Given the description of an element on the screen output the (x, y) to click on. 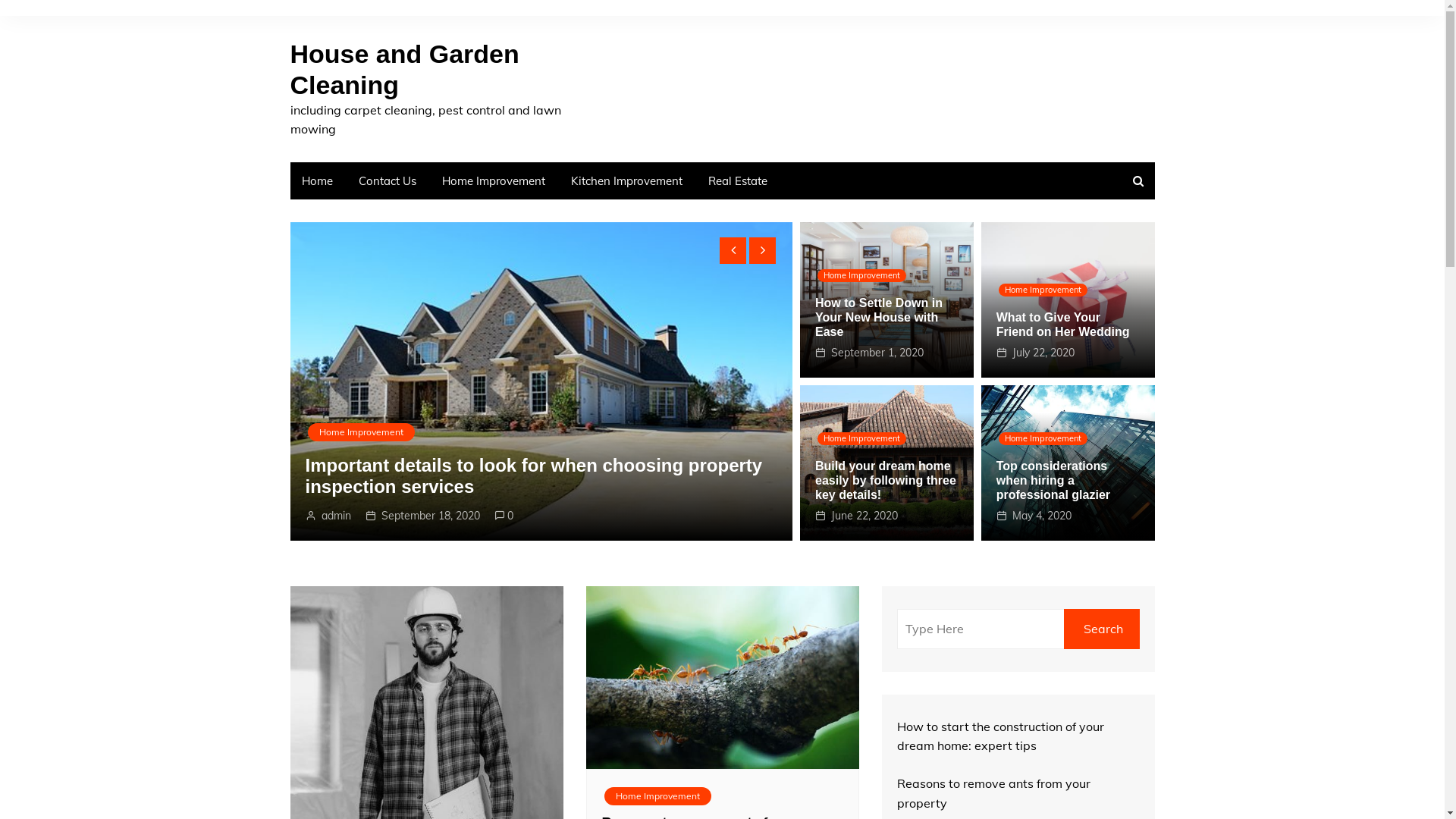
Home Improvement Element type: text (1042, 289)
May 4, 2020 Element type: text (1041, 515)
Home Improvement Element type: text (861, 438)
Top considerations when hiring a professional glazier Element type: text (1053, 480)
June 22, 2020 Element type: text (864, 515)
Search Element type: text (1101, 628)
admin Element type: text (568, 515)
September 1, 2020 Element type: text (877, 352)
How to Settle Down in Your New House with Ease Element type: text (878, 317)
Real Estate Element type: text (737, 180)
July 22, 2020 Element type: text (1043, 352)
What to Give Your Friend on Her Wedding Element type: text (1062, 324)
Home Improvement Element type: text (656, 796)
House and Garden Cleaning Element type: text (403, 69)
Reasons to remove ants from your property Element type: text (992, 792)
September 18, 2020 Element type: text (643, 515)
Reasons to remove ants from your property Element type: text (360, 486)
Home Improvement Element type: text (493, 180)
Contact Us Element type: text (387, 180)
Home Element type: text (316, 180)
Home Improvement Element type: text (861, 275)
Home Improvement Element type: text (635, 432)
0 Element type: text (705, 515)
Build your dream home easily by following three key details! Element type: text (885, 480)
Home Improvement Element type: text (1042, 438)
Kitchen Improvement Element type: text (626, 180)
